Given the description of an element on the screen output the (x, y) to click on. 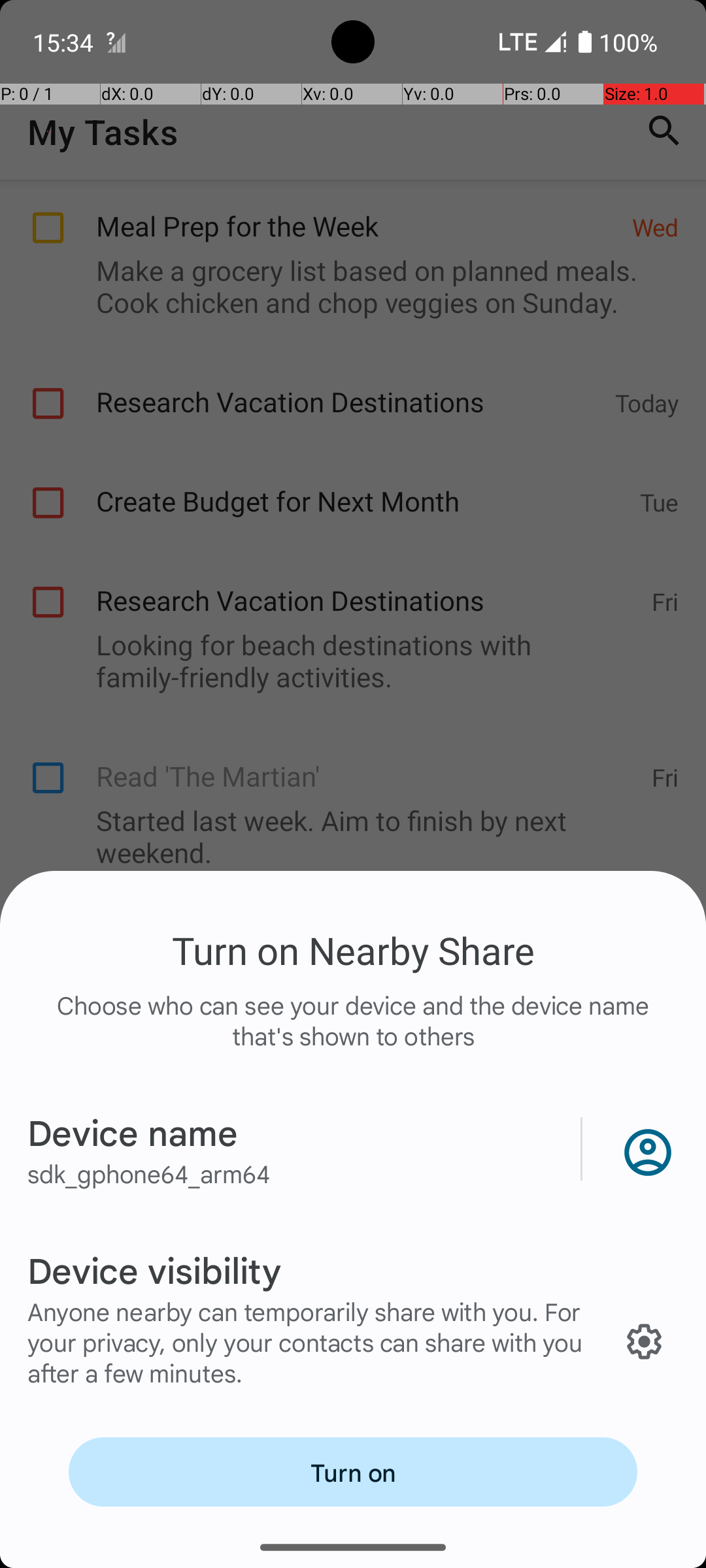
Turn on Nearby Share Element type: android.widget.TextView (353, 949)
Choose who can see your device and the device name that's shown to others Element type: android.widget.TextView (353, 1033)
Turn on Element type: android.widget.Button (352, 1471)
Anyone nearby can temporarily share with you. For your privacy, only your contacts can share with you after a few minutes. Element type: android.widget.TextView (311, 1341)
